Given the description of an element on the screen output the (x, y) to click on. 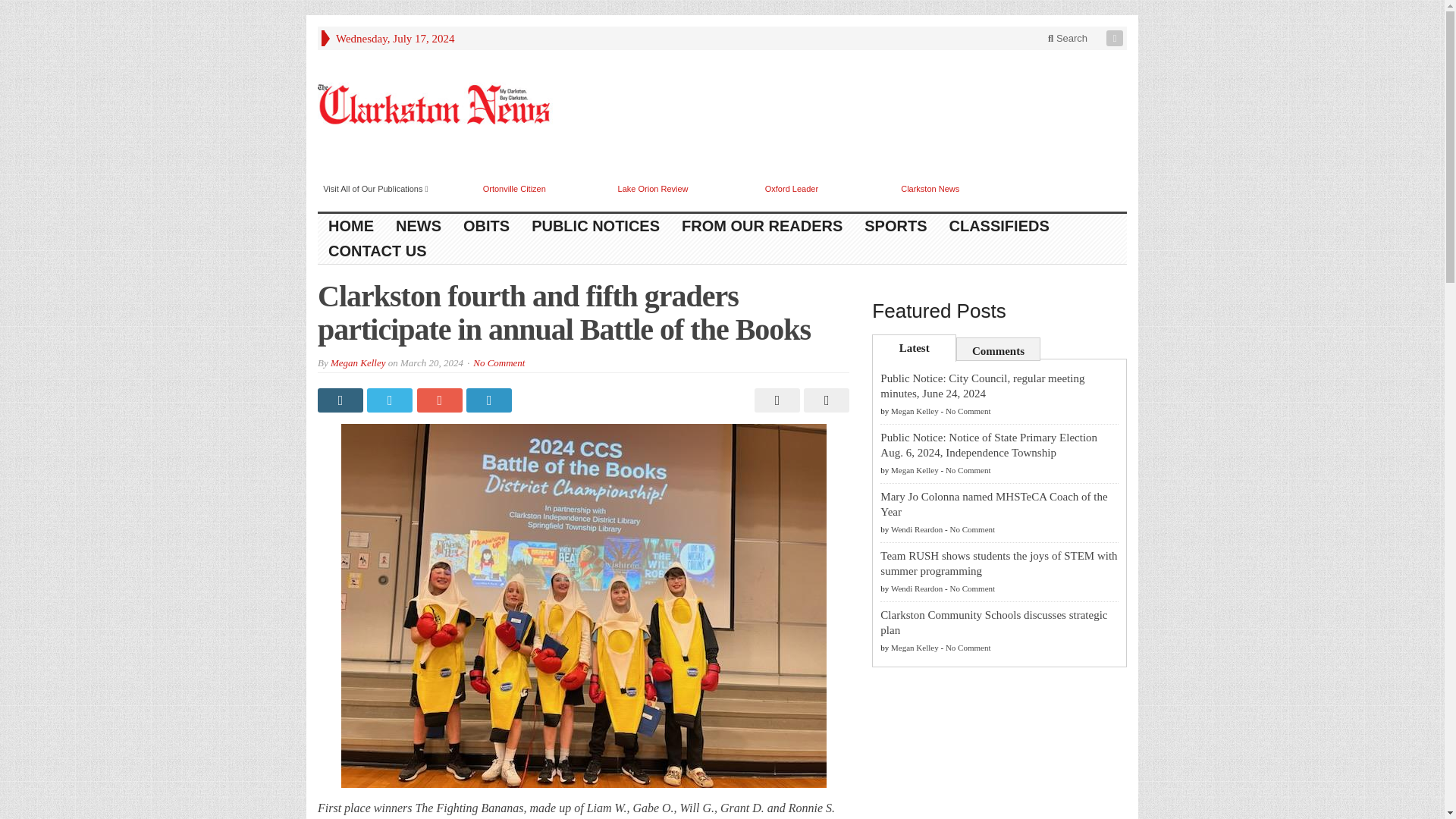
SPORTS (895, 226)
Latest (914, 347)
Megan Kelley (357, 362)
CONTACT US (377, 251)
No Comment (498, 362)
Lake Orion Review (652, 188)
Oxford Leader (791, 188)
Permalink to Mary Jo Colonna named MHSTeCA Coach of the Year (993, 503)
OBITS (486, 226)
Ortonville Citizen (514, 188)
FROM OUR READERS (762, 226)
Serving Clarkston Michigan (435, 103)
CLASSIFIEDS (1000, 226)
